Given the description of an element on the screen output the (x, y) to click on. 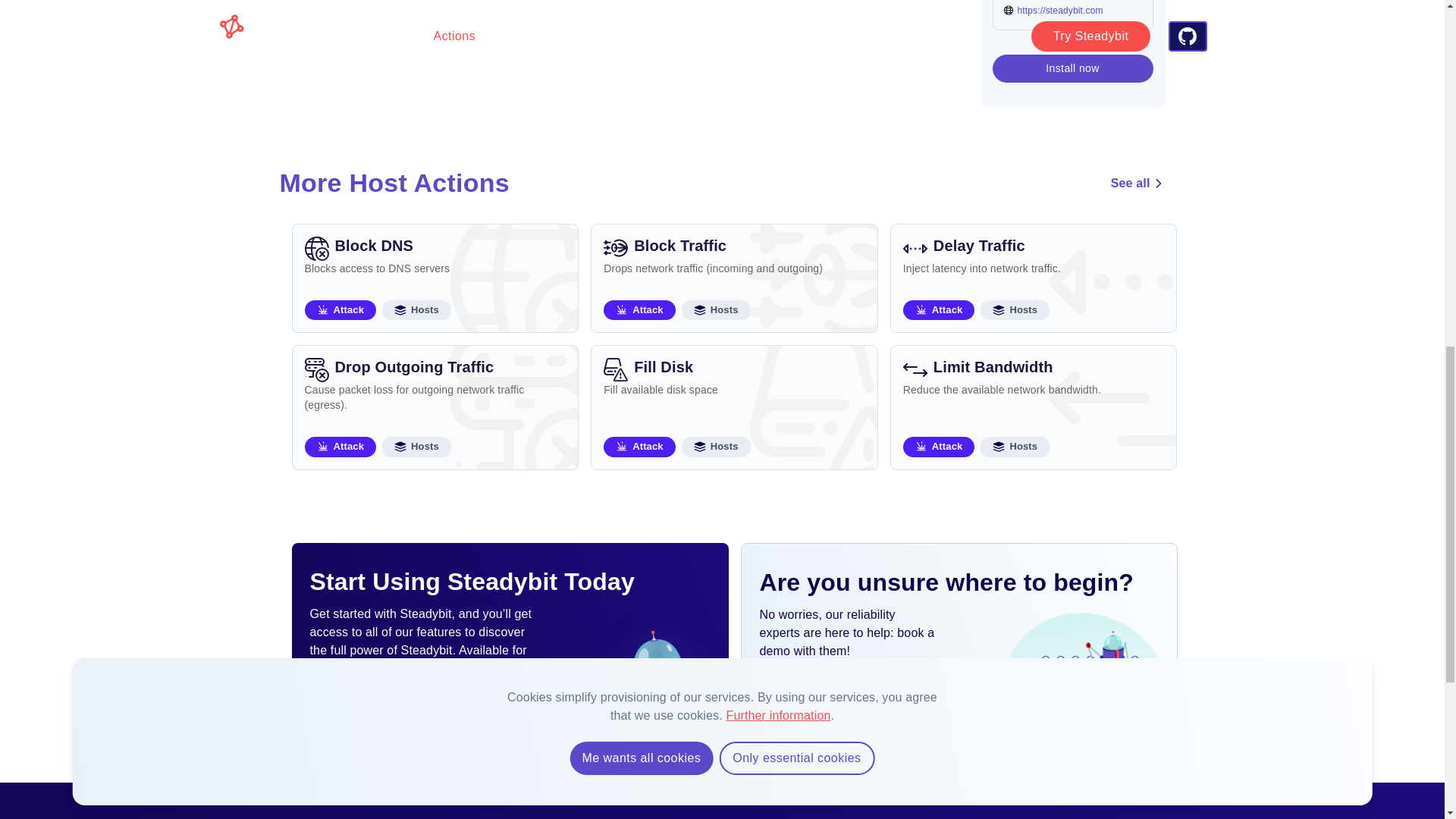
Install now (1072, 68)
See all (434, 278)
Start Free Trial (1138, 183)
Start Free Trial (734, 407)
